Given the description of an element on the screen output the (x, y) to click on. 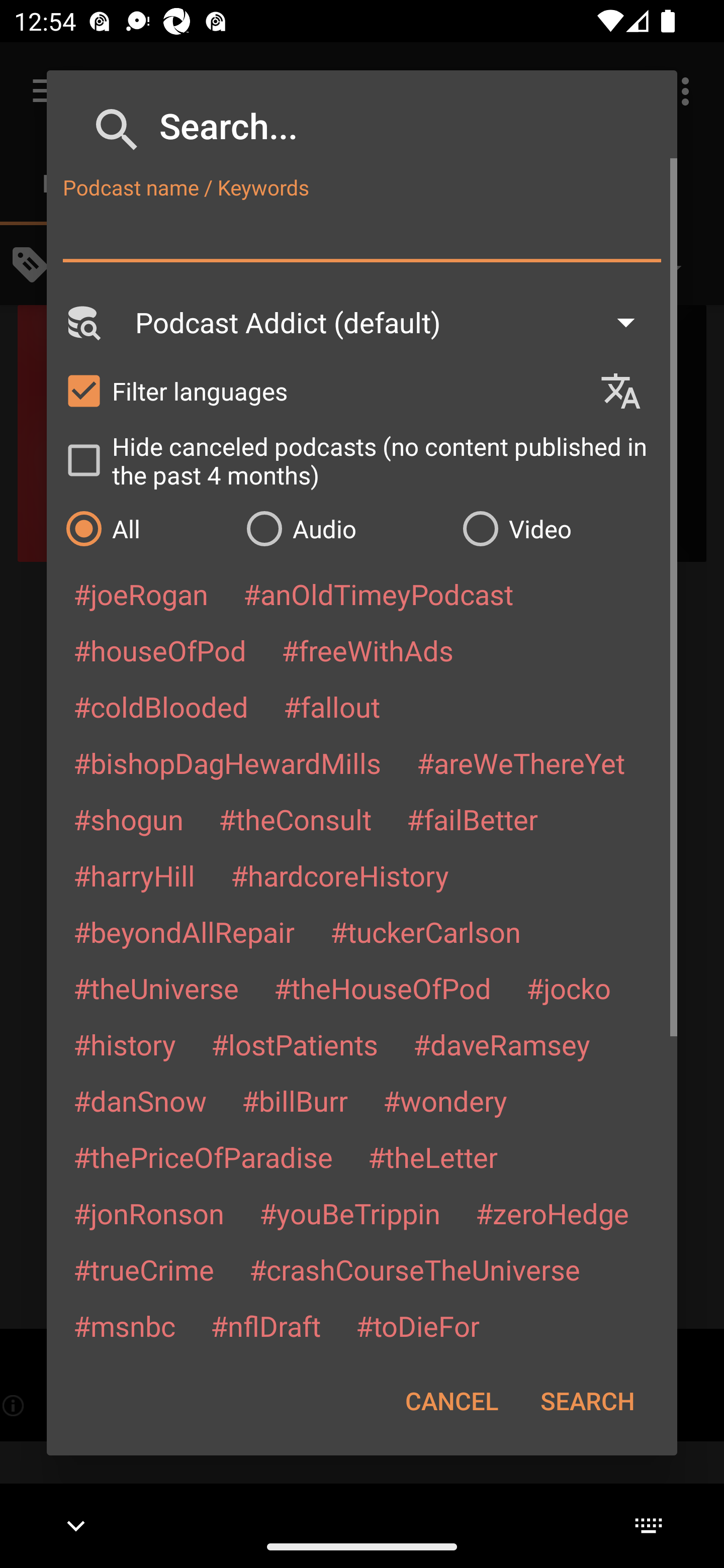
Podcast name / Keywords (361, 234)
Search Engine (82, 322)
Podcast Addict (default) (394, 322)
Languages selection (629, 390)
Filter languages (322, 390)
All (145, 528)
Audio (344, 528)
Video (560, 528)
#joeRogan (140, 594)
#anOldTimeyPodcast (378, 594)
#houseOfPod (159, 650)
#freeWithAds (367, 650)
#coldBlooded (160, 705)
#fallout (331, 705)
#bishopDagHewardMills (227, 762)
#areWeThereYet (521, 762)
#shogun (128, 818)
#theConsult (294, 818)
#failBetter (471, 818)
#harryHill (134, 875)
#hardcoreHistory (339, 875)
#beyondAllRepair (184, 931)
#tuckerCarlson (425, 931)
#theUniverse (155, 987)
#theHouseOfPod (381, 987)
#jocko (568, 987)
#history (124, 1044)
#lostPatients (294, 1044)
#daveRamsey (501, 1044)
#danSnow (139, 1100)
#billBurr (294, 1100)
#wondery (444, 1100)
#thePriceOfParadise (203, 1157)
#theLetter (432, 1157)
#jonRonson (148, 1213)
#youBeTrippin (349, 1213)
#zeroHedge (552, 1213)
#trueCrime (143, 1268)
#crashCourseTheUniverse (414, 1268)
#msnbc (124, 1325)
#nflDraft (265, 1325)
#toDieFor (417, 1325)
CANCEL (451, 1400)
SEARCH (587, 1400)
